Given the description of an element on the screen output the (x, y) to click on. 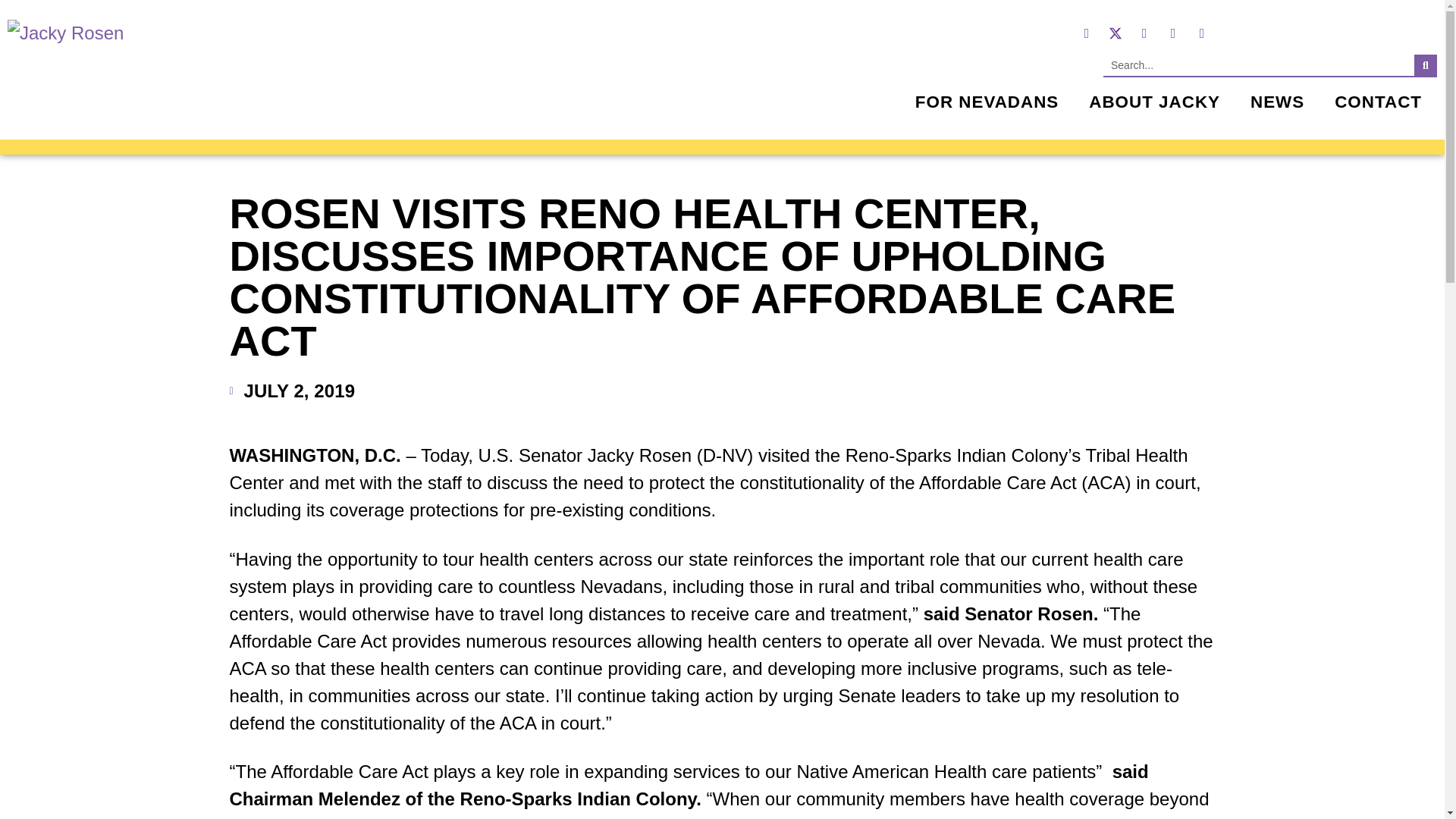
ABOUT JACKY (1154, 102)
FOR NEVADANS (986, 102)
NEWS (1276, 102)
